Given the description of an element on the screen output the (x, y) to click on. 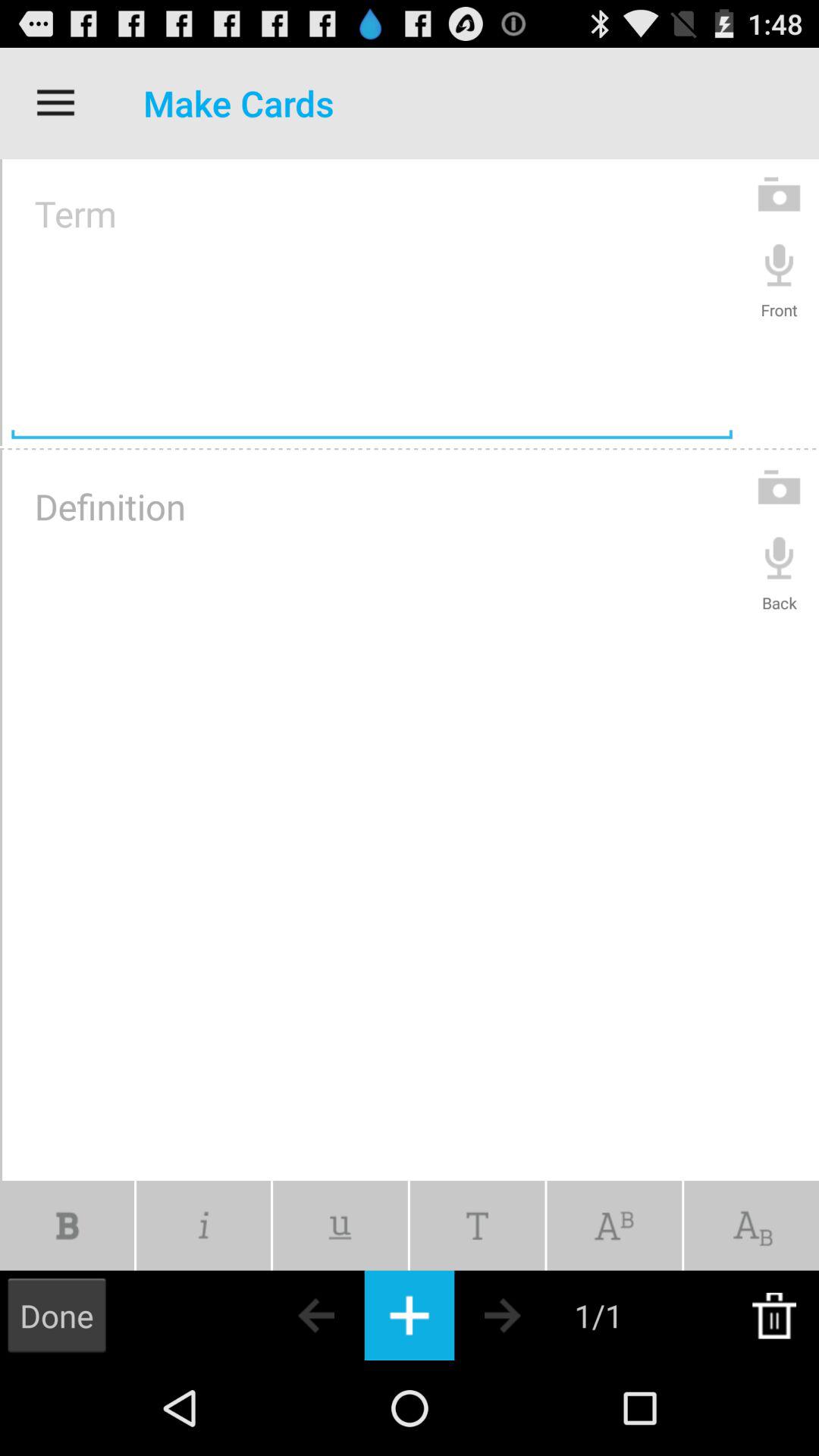
letters box option (614, 1225)
